Given the description of an element on the screen output the (x, y) to click on. 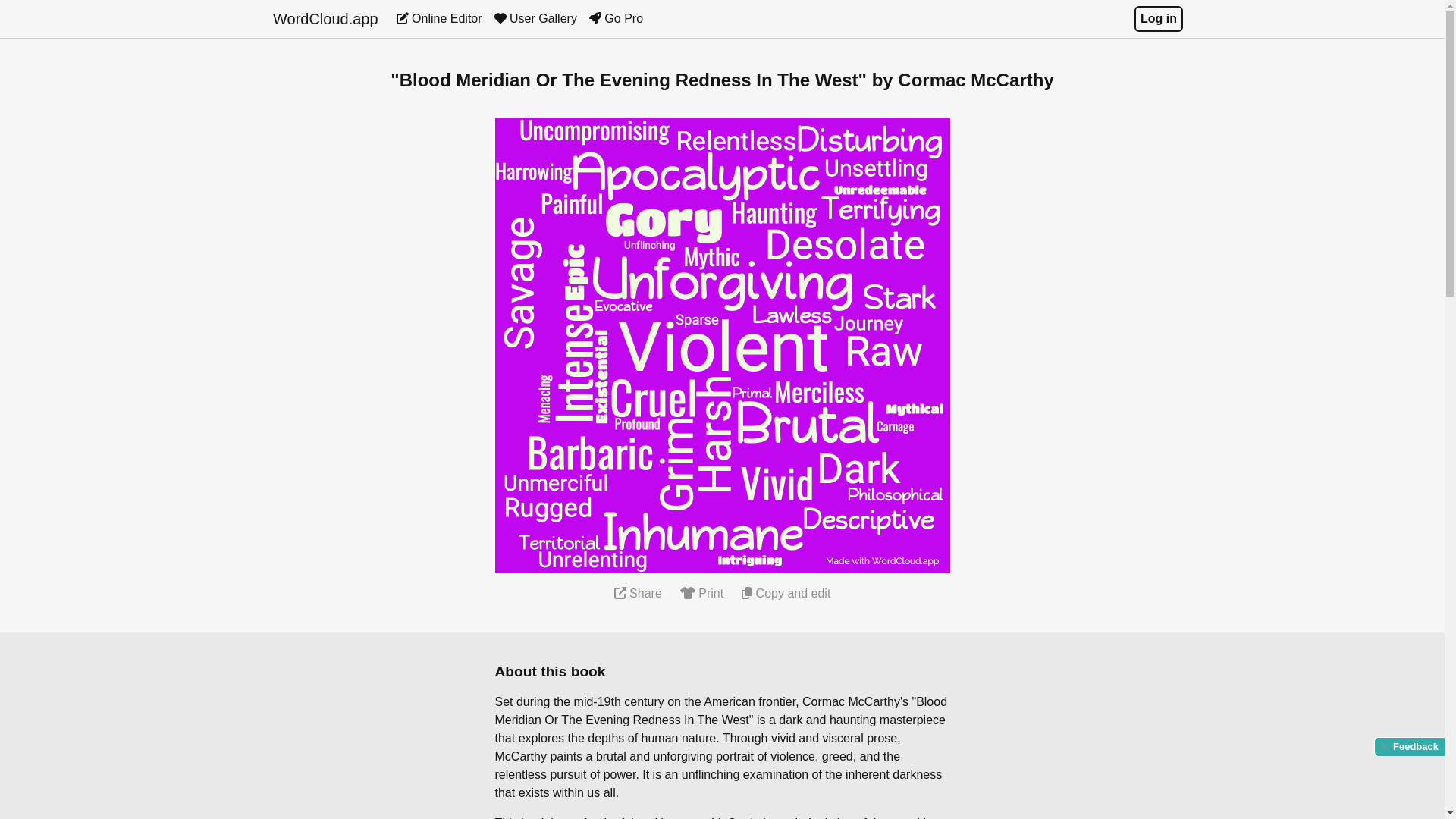
Copy and edit (785, 593)
User Gallery (535, 18)
Go Pro (616, 18)
Home (325, 18)
WordCloud.app (325, 18)
Dashboard (438, 18)
Explore User-Created Word Clouds (535, 18)
Online Editor (438, 18)
Share (638, 593)
Print (701, 593)
Log in (1158, 18)
